Given the description of an element on the screen output the (x, y) to click on. 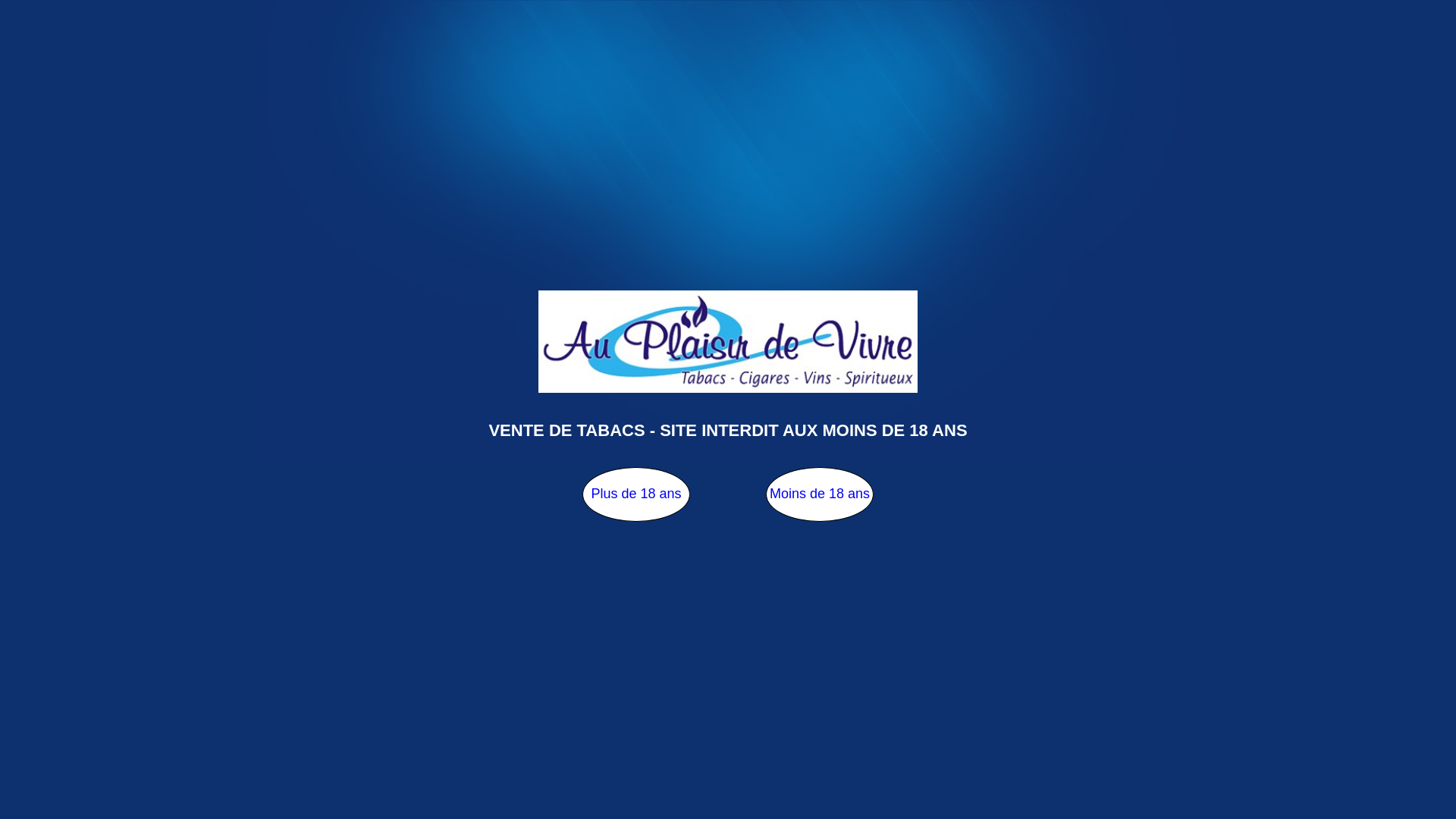
Moins de 18 ans Element type: text (819, 494)
Plus de 18 ans Element type: text (636, 494)
